Given the description of an element on the screen output the (x, y) to click on. 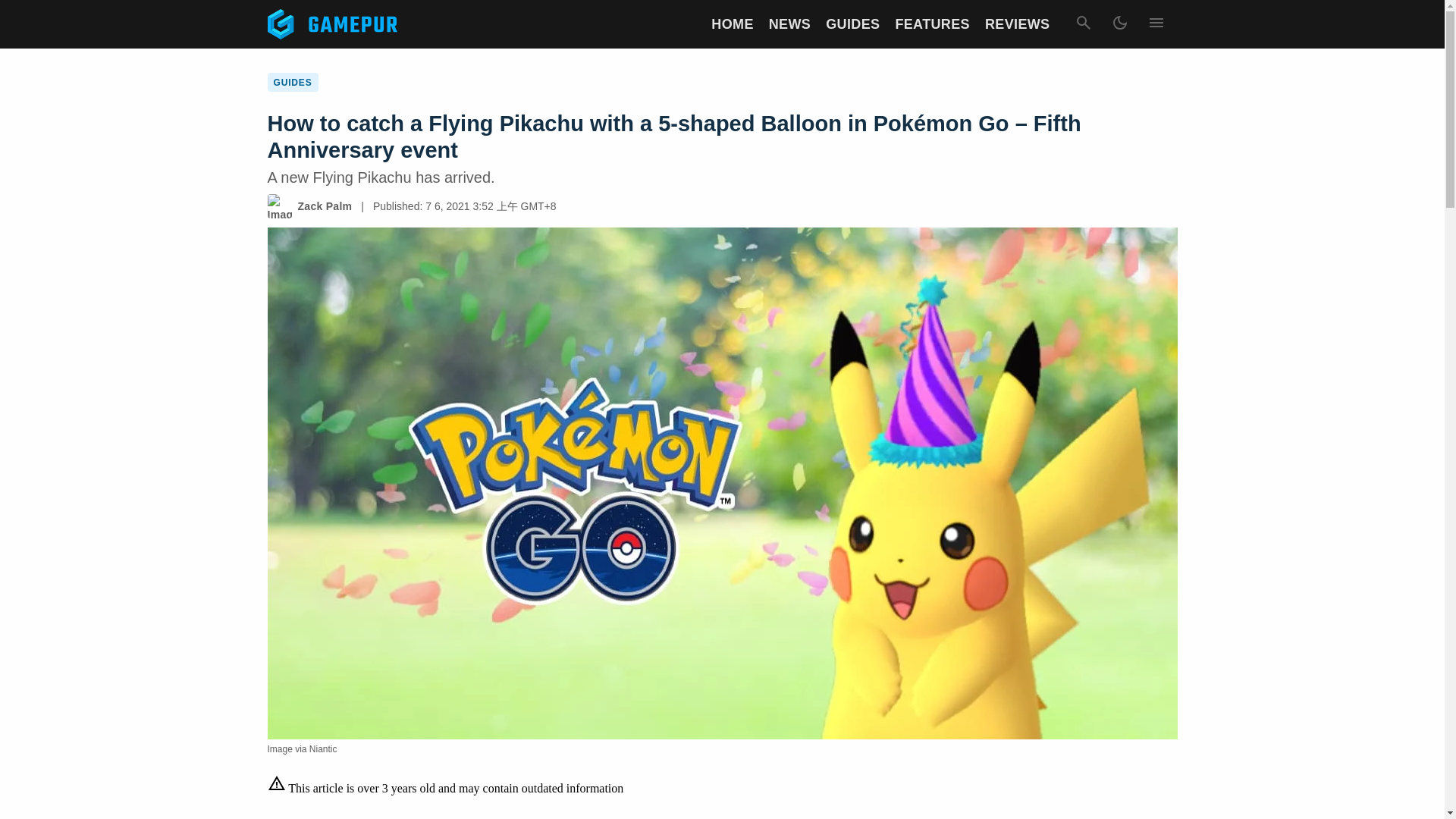
Expand Menu (1155, 23)
NEWS (789, 23)
HOME (731, 23)
REVIEWS (1017, 23)
FEATURES (932, 23)
Dark Mode (1118, 23)
Search (1082, 23)
GUIDES (852, 23)
